Given the description of an element on the screen output the (x, y) to click on. 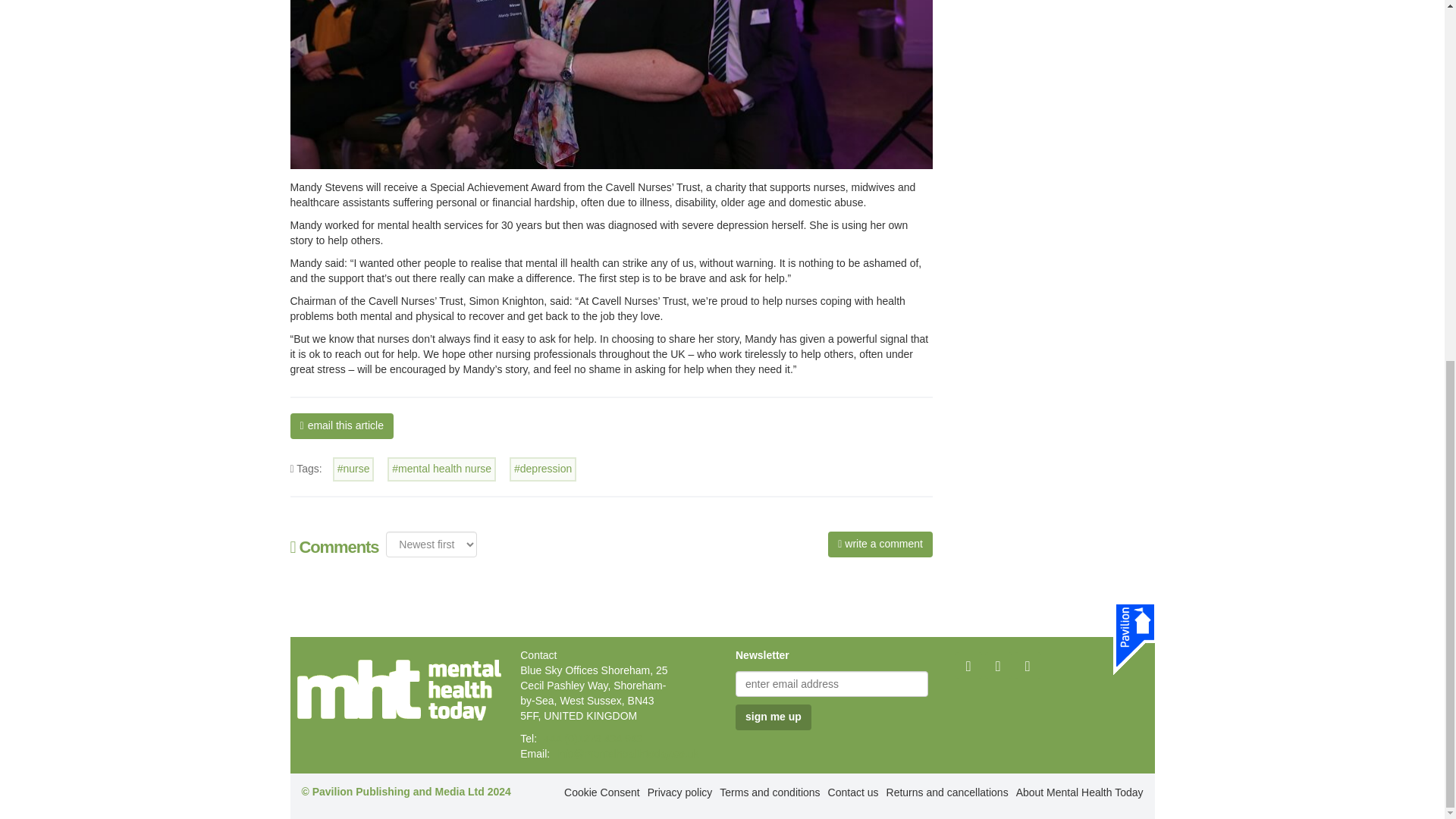
Sign me up (772, 717)
Sign me up (772, 717)
Follow us on Facebook (968, 664)
Email this page (341, 425)
